Given the description of an element on the screen output the (x, y) to click on. 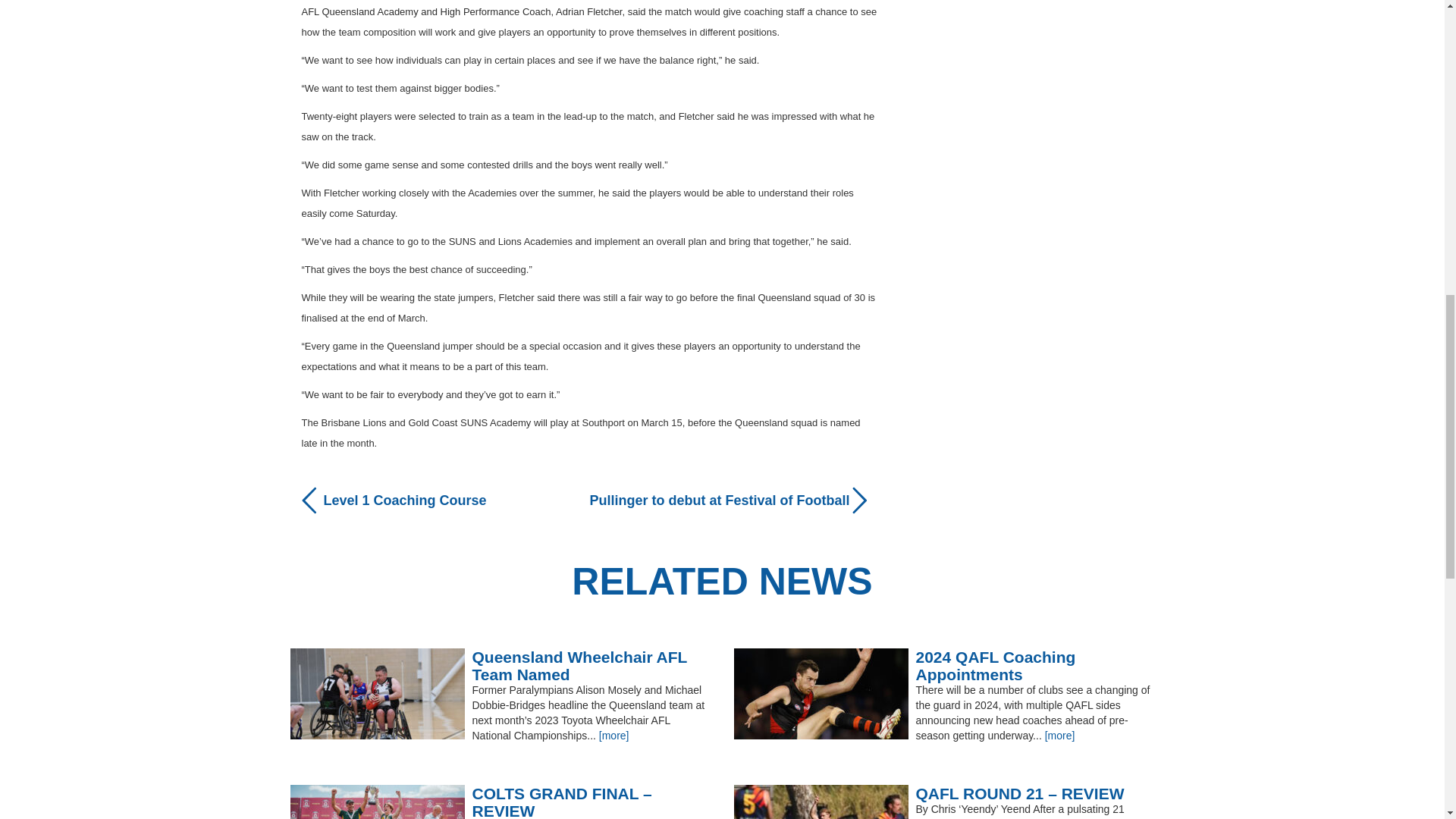
Queensland Wheelchair AFL Team Named (499, 665)
2024 QAFL Coaching Appointments (943, 665)
